Given the description of an element on the screen output the (x, y) to click on. 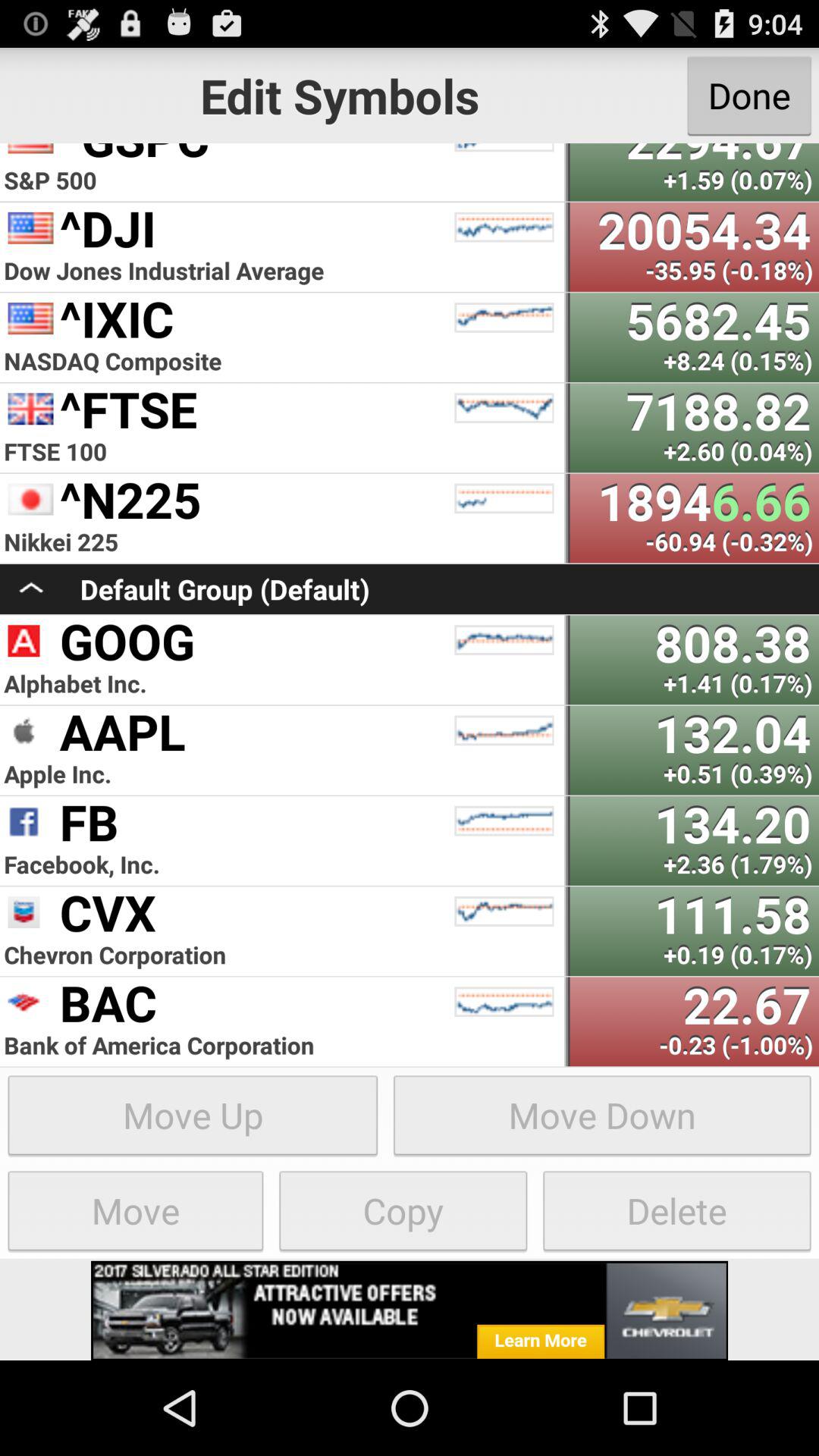
click on advertisement (409, 1310)
